Given the description of an element on the screen output the (x, y) to click on. 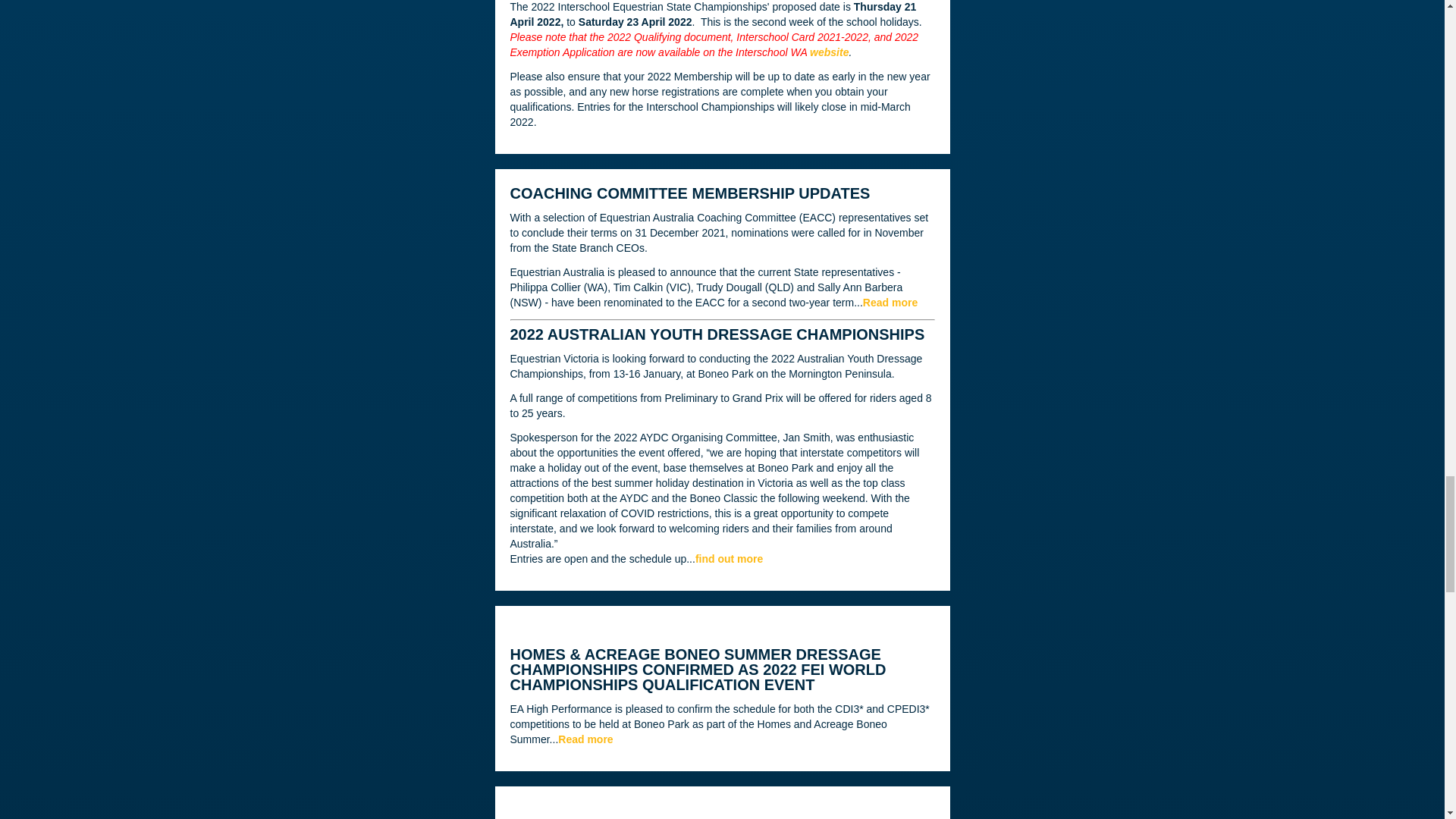
Read more (890, 302)
website (828, 51)
Read more (584, 739)
find out more (728, 558)
